Given the description of an element on the screen output the (x, y) to click on. 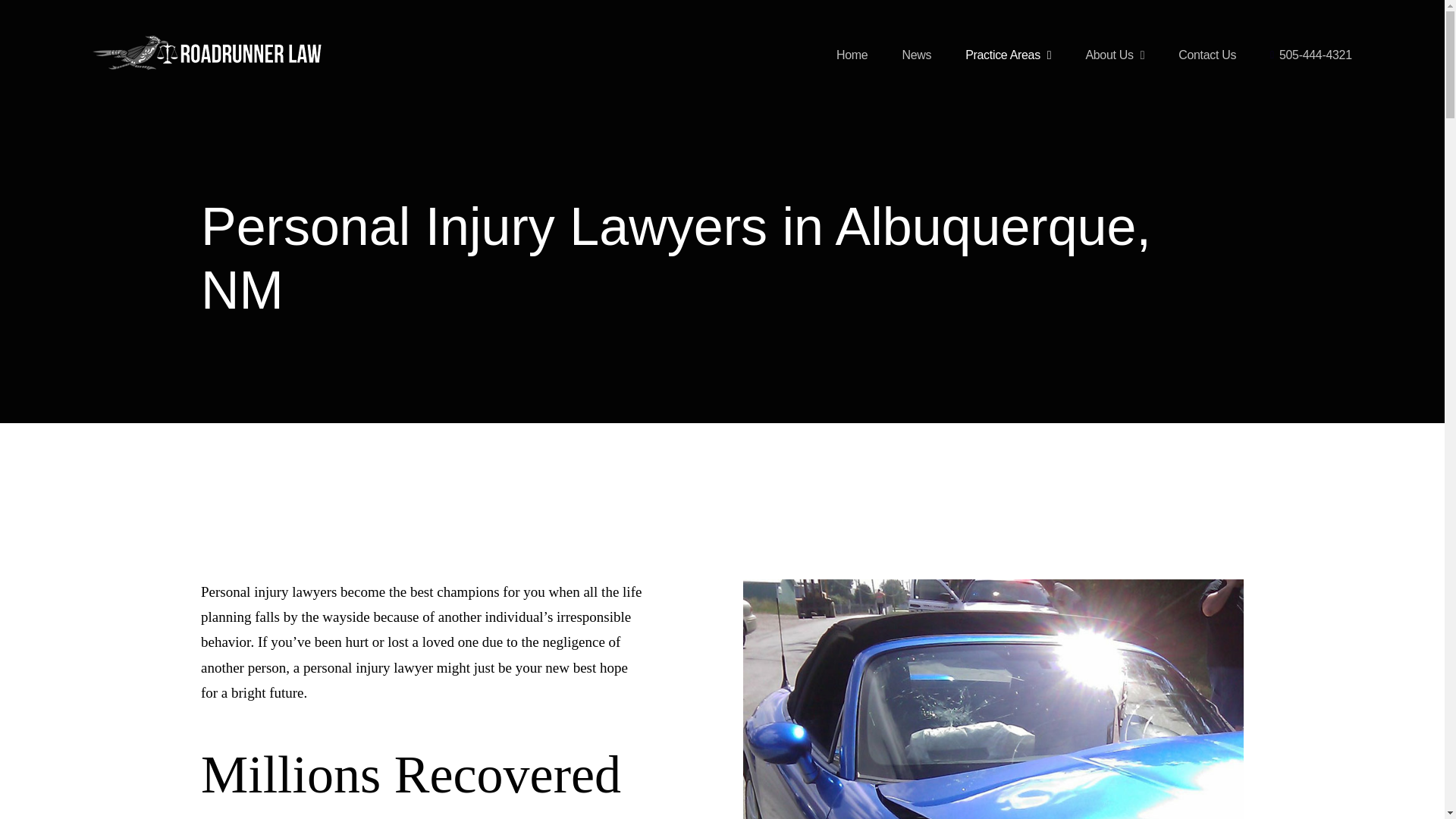
505-444-4321 (1310, 54)
Practice Areas (1008, 54)
About Us (1114, 54)
Contact Us (1206, 54)
